Given the description of an element on the screen output the (x, y) to click on. 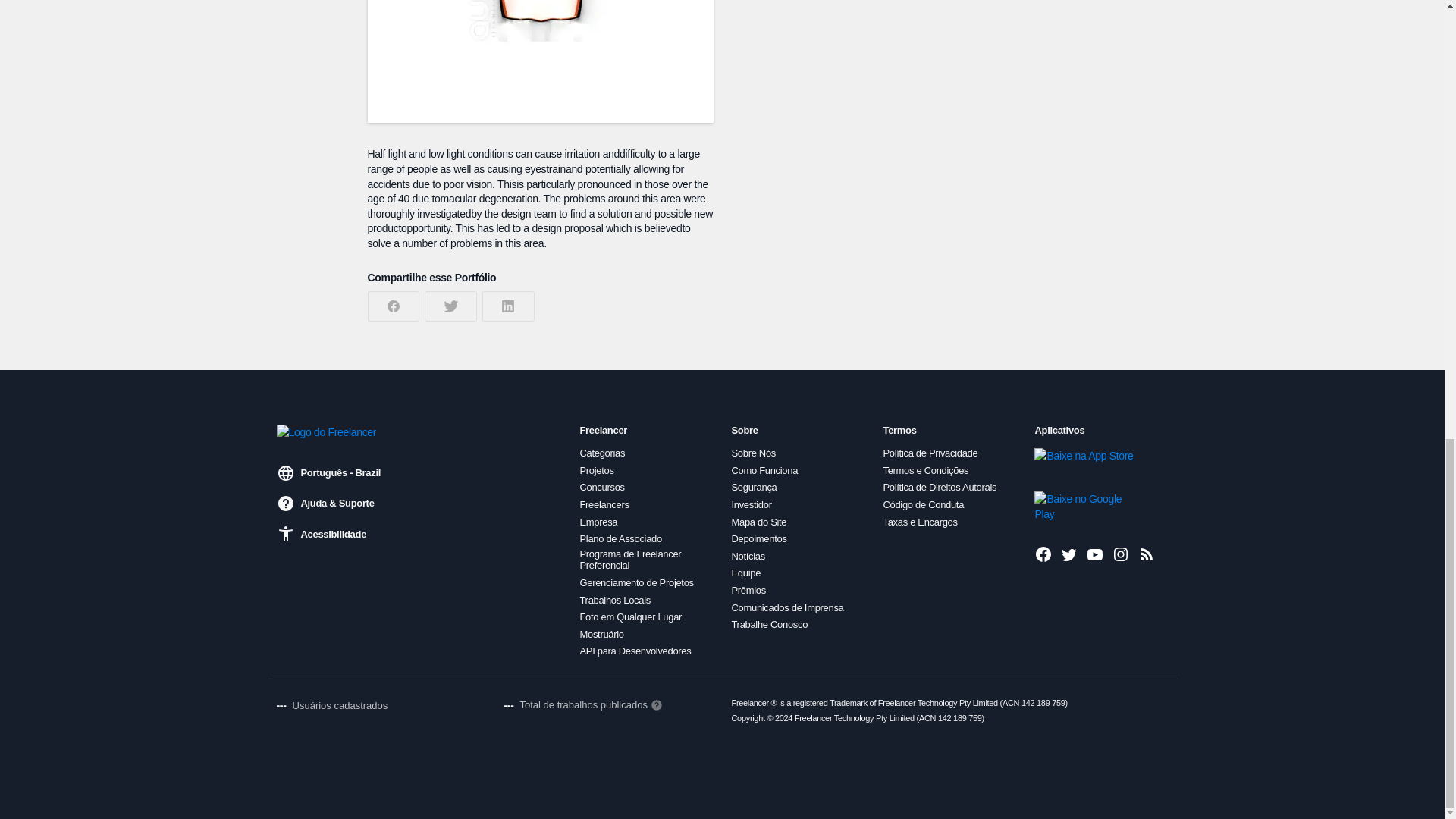
Trabalhos Locais (614, 600)
Freelancer no Facebook (1042, 554)
Projetos (595, 470)
Freelancers (603, 504)
Foto em Qualquer Lugar (630, 616)
Baixar da App Store (1085, 462)
Freelancer no Youtube (1094, 554)
Como Funciona (763, 470)
Plano de Associado (620, 539)
Projetos mais Recentes (1146, 554)
Investidor (750, 504)
Programa de Freelancer Preferencial (646, 559)
Compartilhe no Facebook (392, 306)
Compartilhar no Twitter (450, 306)
Freelancer no Instagram (1120, 554)
